Given the description of an element on the screen output the (x, y) to click on. 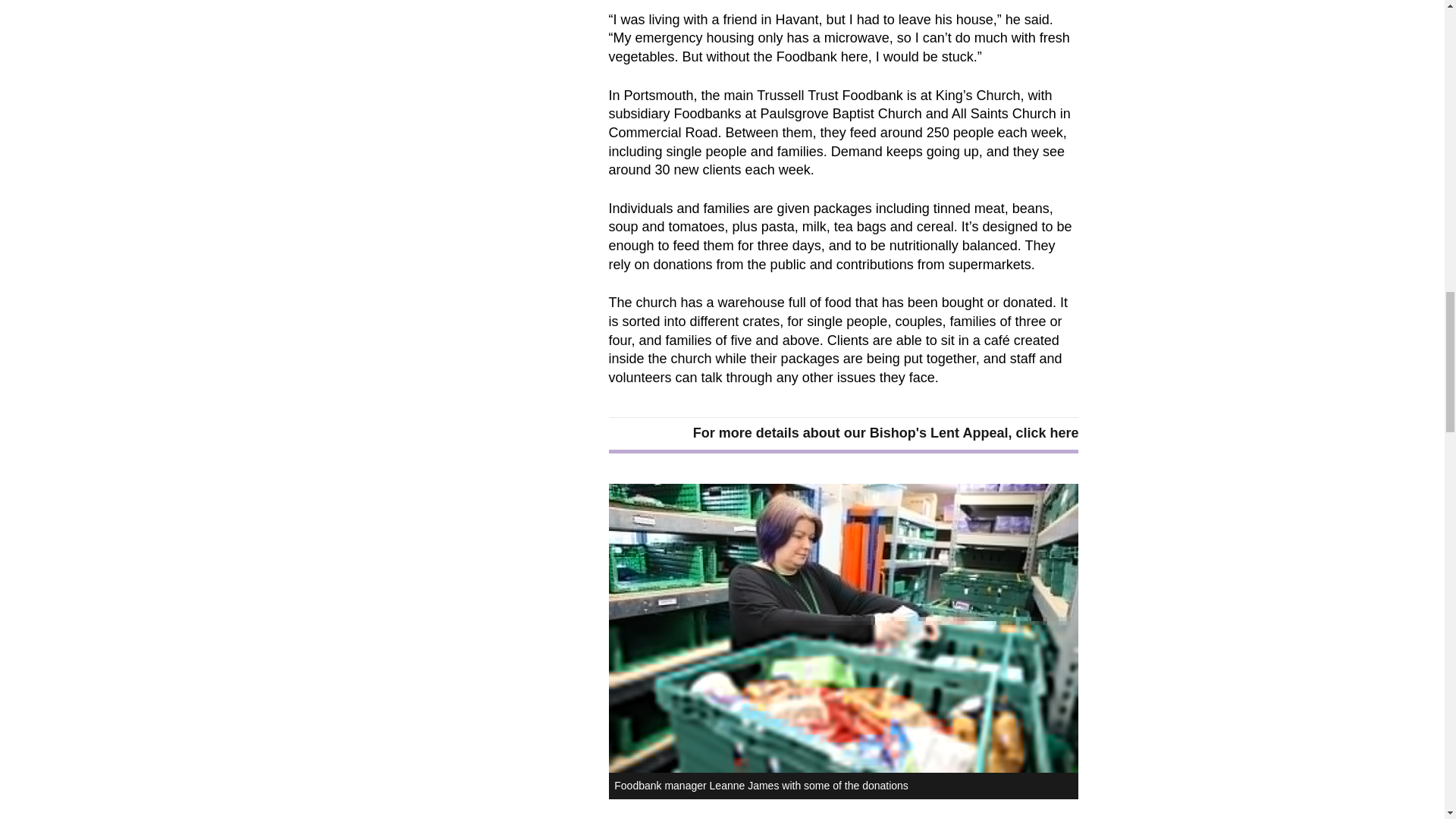
For more details about our Bishop's Lent Appeal, click here (885, 433)
